Given the description of an element on the screen output the (x, y) to click on. 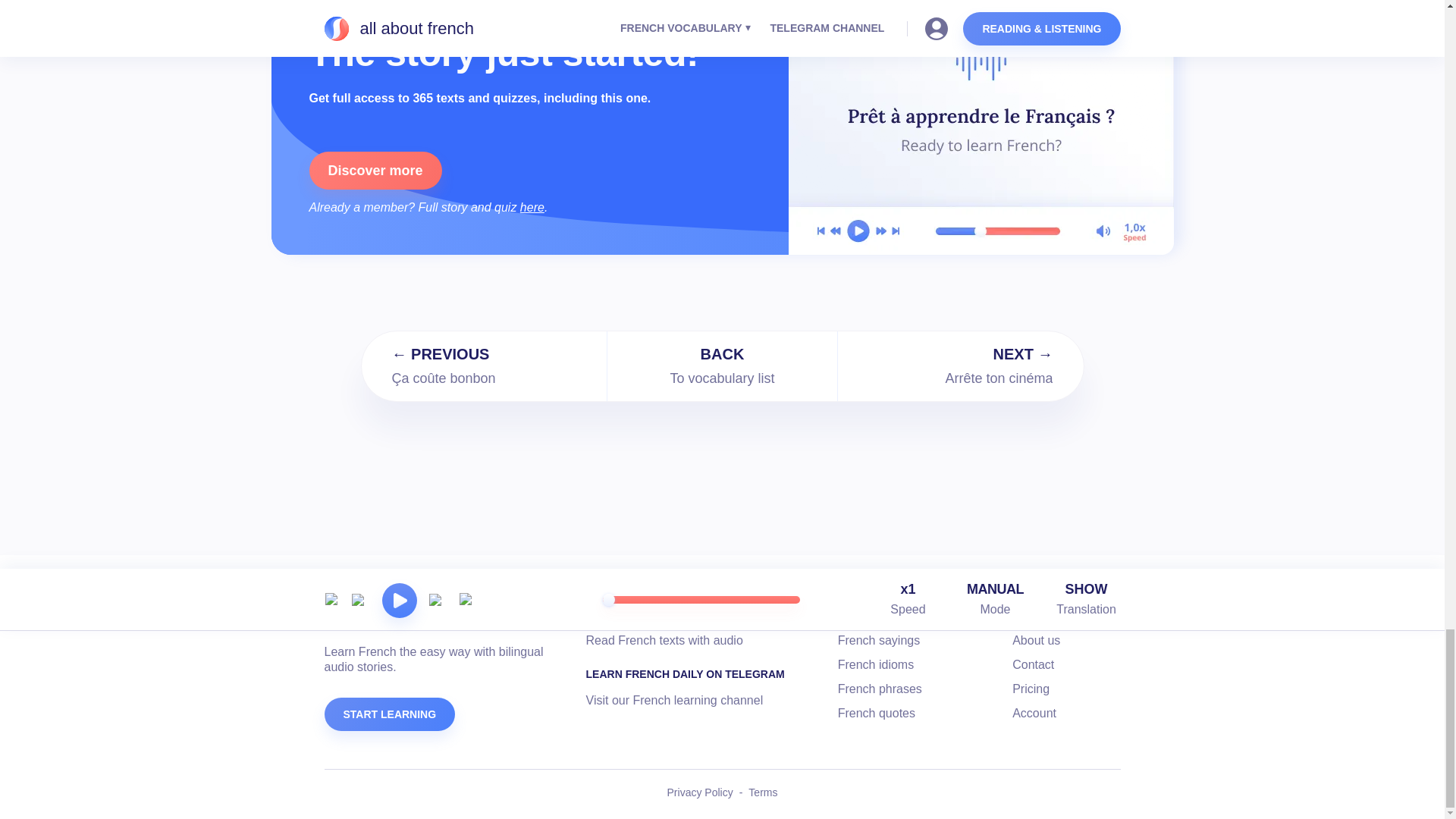
French phrases (879, 688)
FRENCH VOCABULARY (898, 613)
LEARN FRENCH DAILY ON TELEGRAM (685, 673)
Read French texts with audio (664, 640)
START LEARNING (389, 714)
all about french (399, 618)
French idioms (876, 664)
here (994, 599)
French sayings (531, 206)
